Given the description of an element on the screen output the (x, y) to click on. 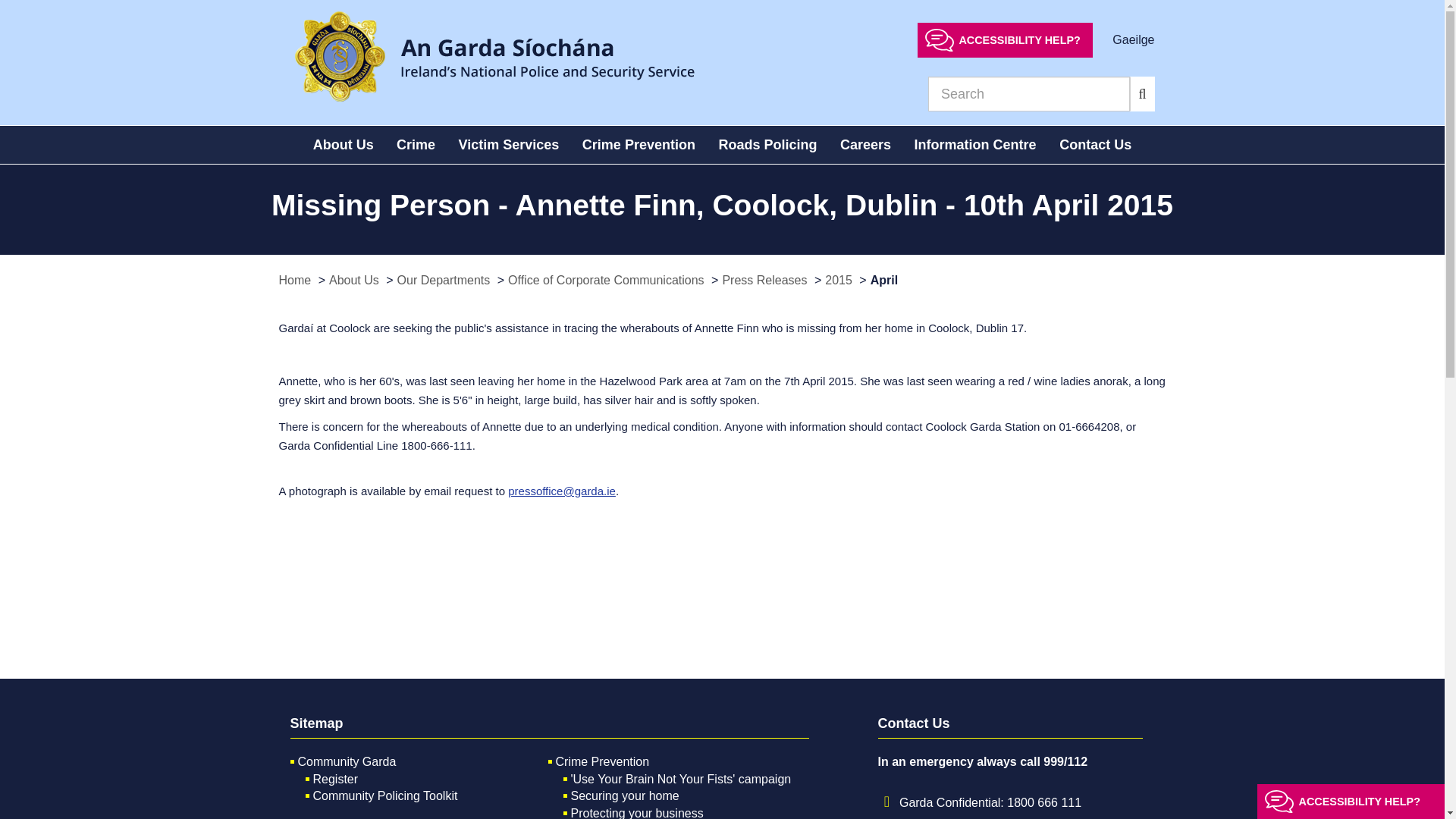
ACCESSIBILITY HELP? (1005, 39)
Crime (415, 144)
Gaeilge (1133, 39)
About Us (343, 144)
